Given the description of an element on the screen output the (x, y) to click on. 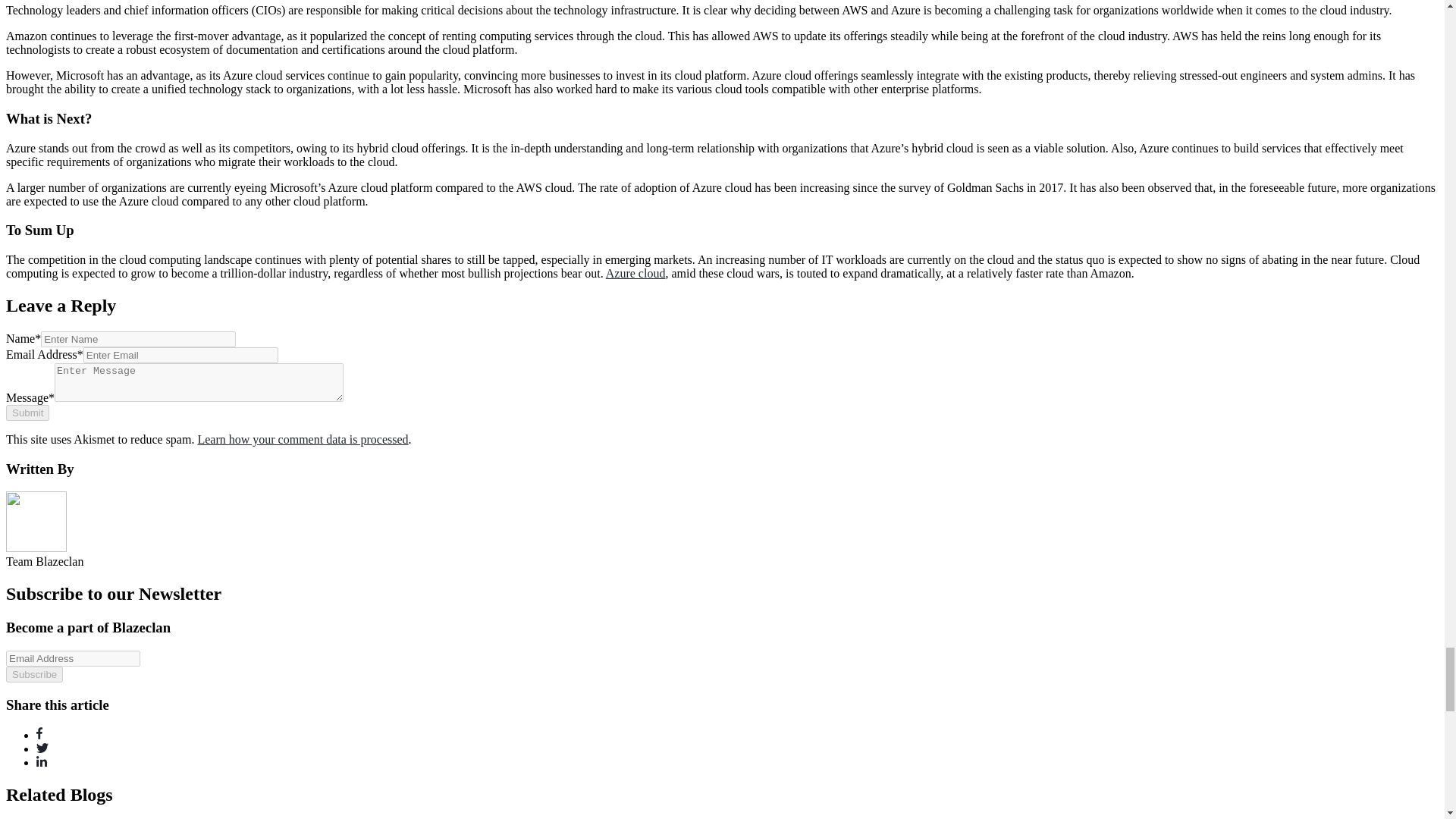
Subscribe (33, 674)
Submit (27, 412)
